Given the description of an element on the screen output the (x, y) to click on. 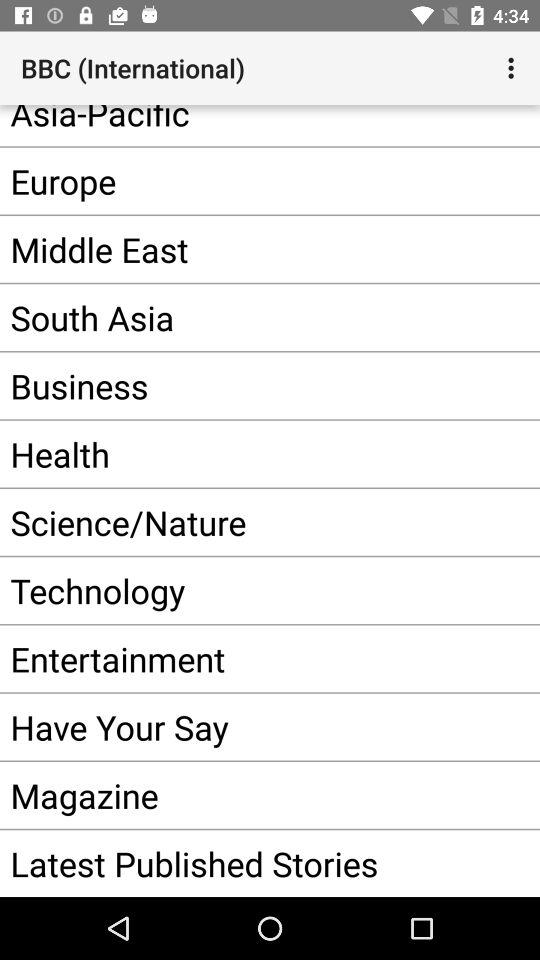
choose the business icon (240, 385)
